Given the description of an element on the screen output the (x, y) to click on. 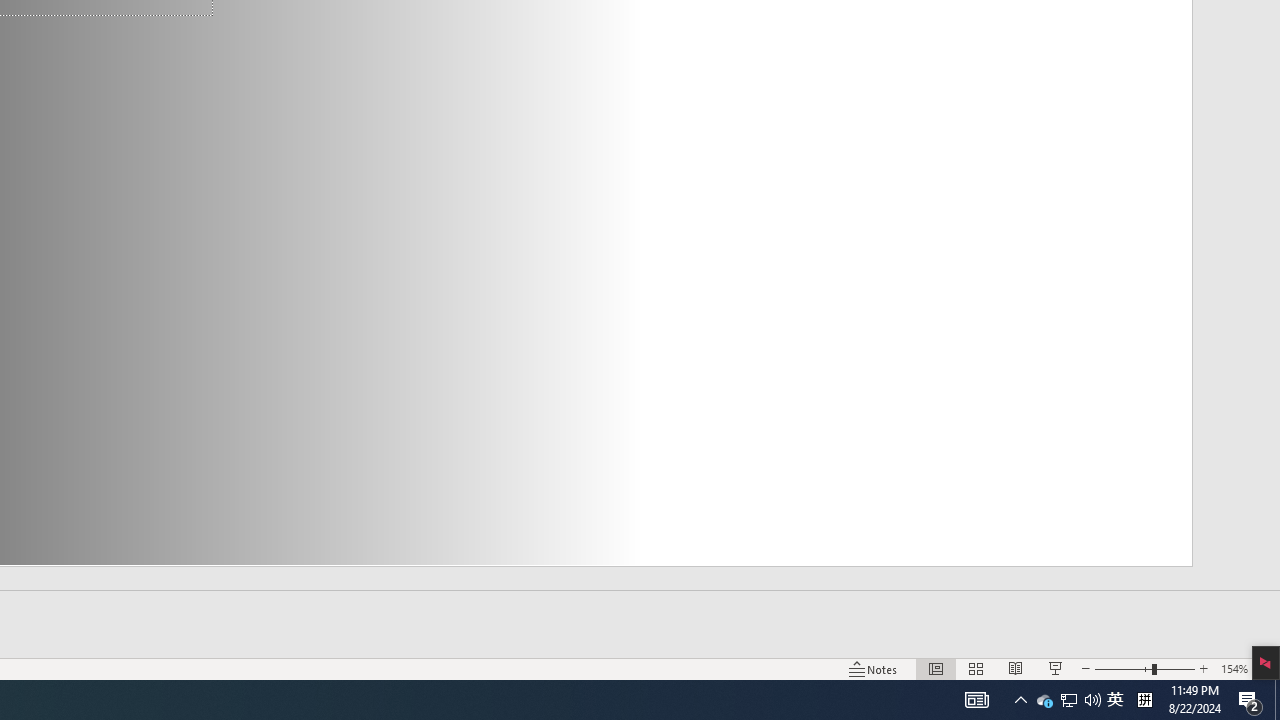
Zoom 154% (1234, 668)
